Given the description of an element on the screen output the (x, y) to click on. 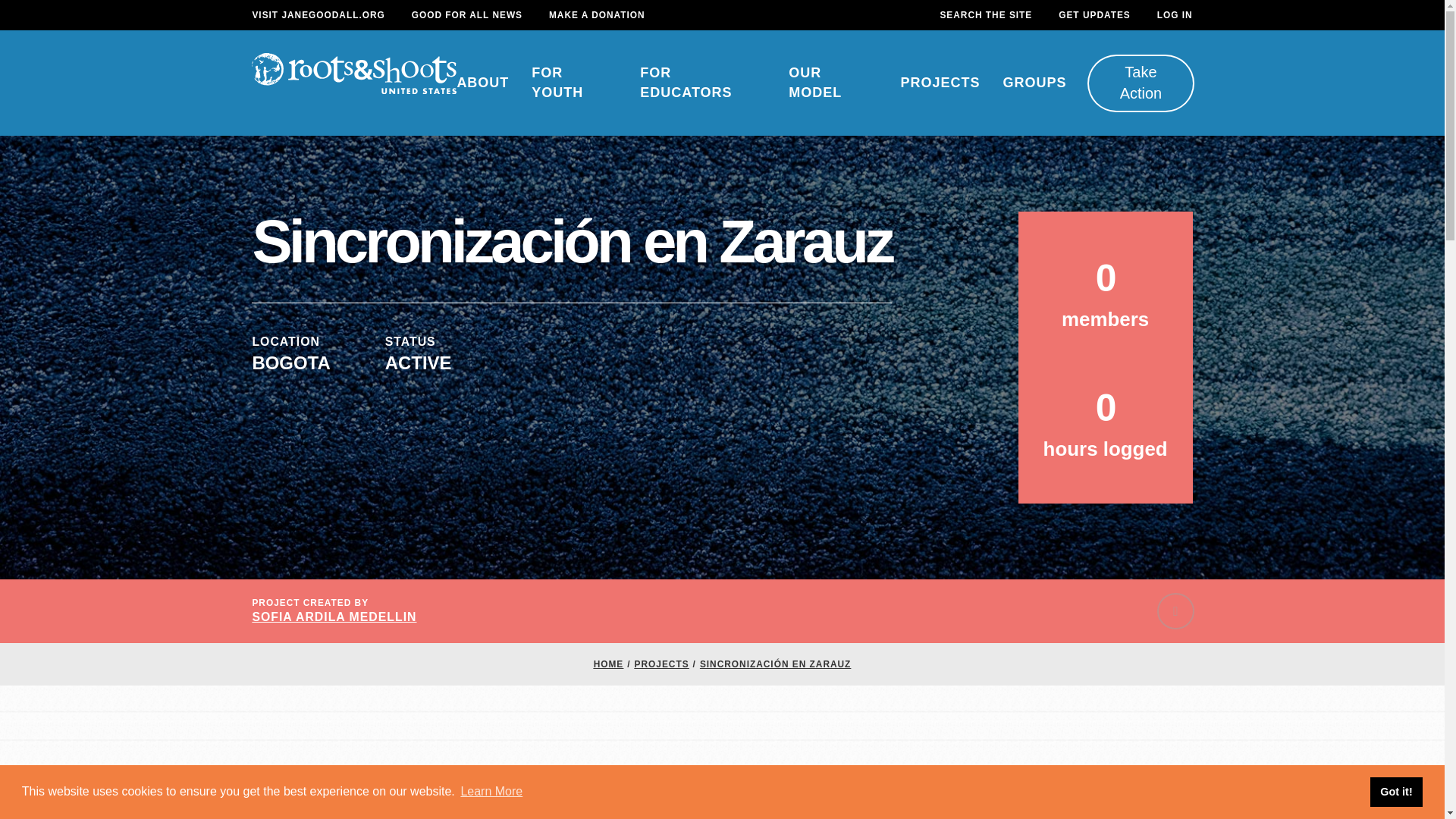
SEARCH THE SITE (985, 15)
GOOD FOR ALL NEWS (467, 15)
VISIT JANEGOODALL.ORG (317, 15)
MAKE A DONATION (596, 15)
Got it! (1396, 791)
Go to Projects. (661, 664)
LOG IN (1174, 15)
Learn More (491, 791)
PROJECTS (940, 83)
GET UPDATES (1094, 15)
FOR EDUCATORS (702, 82)
